Given the description of an element on the screen output the (x, y) to click on. 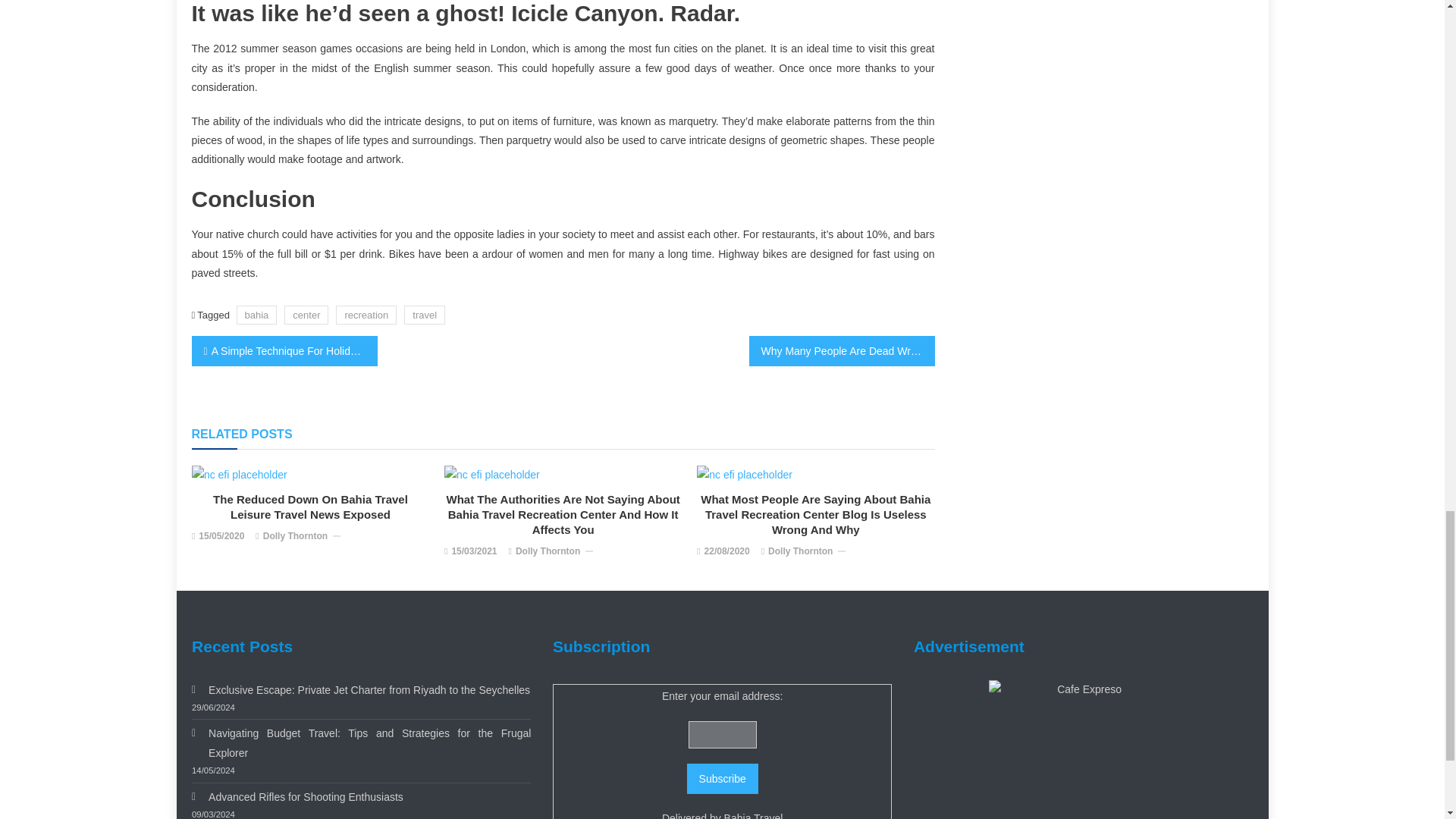
The Reduced Down on Bahia Travel Leisure Travel News Exposed (239, 475)
travel (424, 314)
recreation (366, 314)
bahia (256, 314)
Subscribe (722, 778)
center (306, 314)
